Given the description of an element on the screen output the (x, y) to click on. 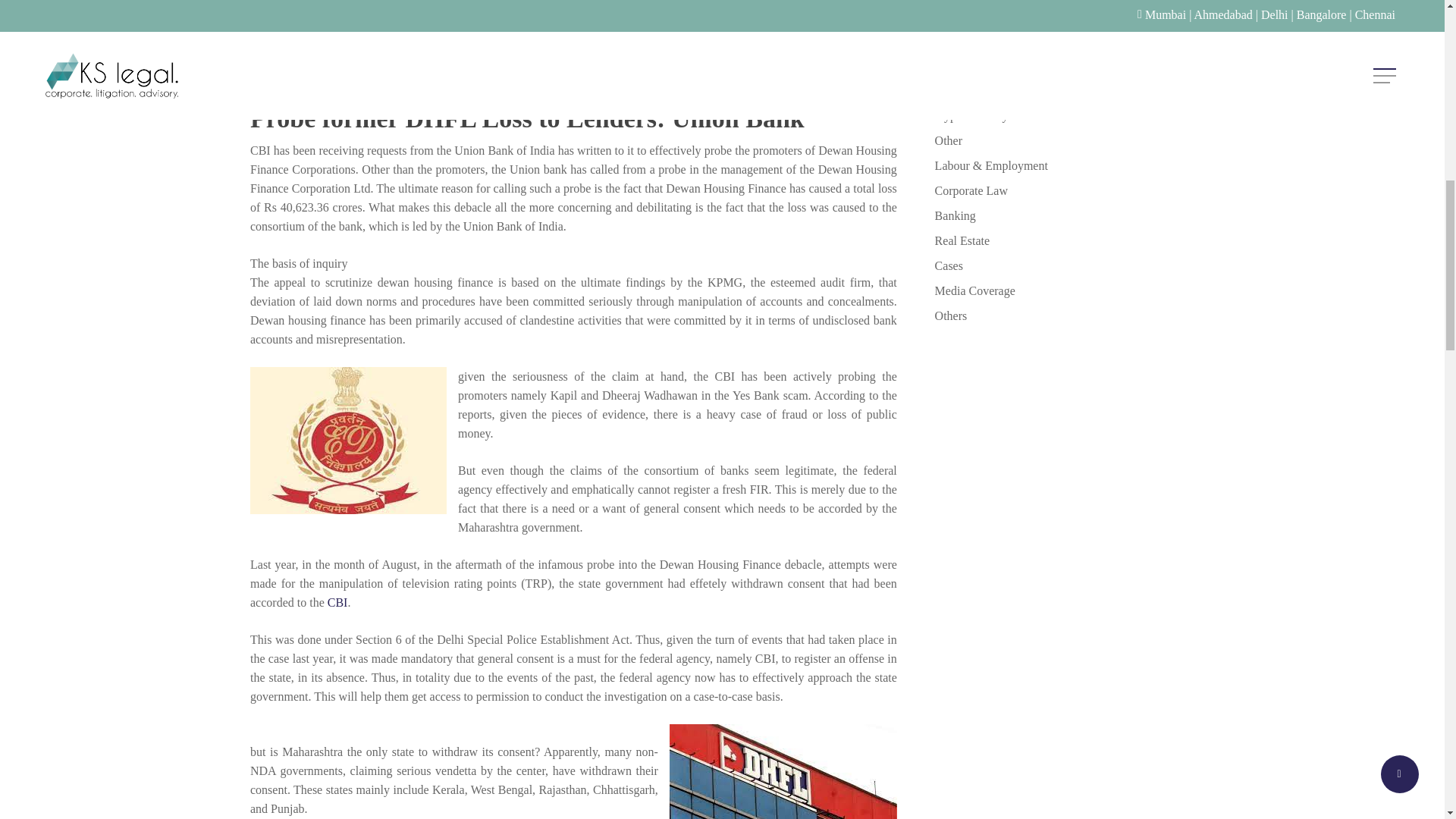
UBI (1063, 65)
arbitrator (1063, 40)
Economy (1063, 15)
Banking (1063, 215)
cryptocurrency (1063, 115)
Real Estate (1063, 240)
CBI (337, 602)
Corporate Law (1063, 189)
Others (1063, 315)
Cases (1063, 265)
